Given the description of an element on the screen output the (x, y) to click on. 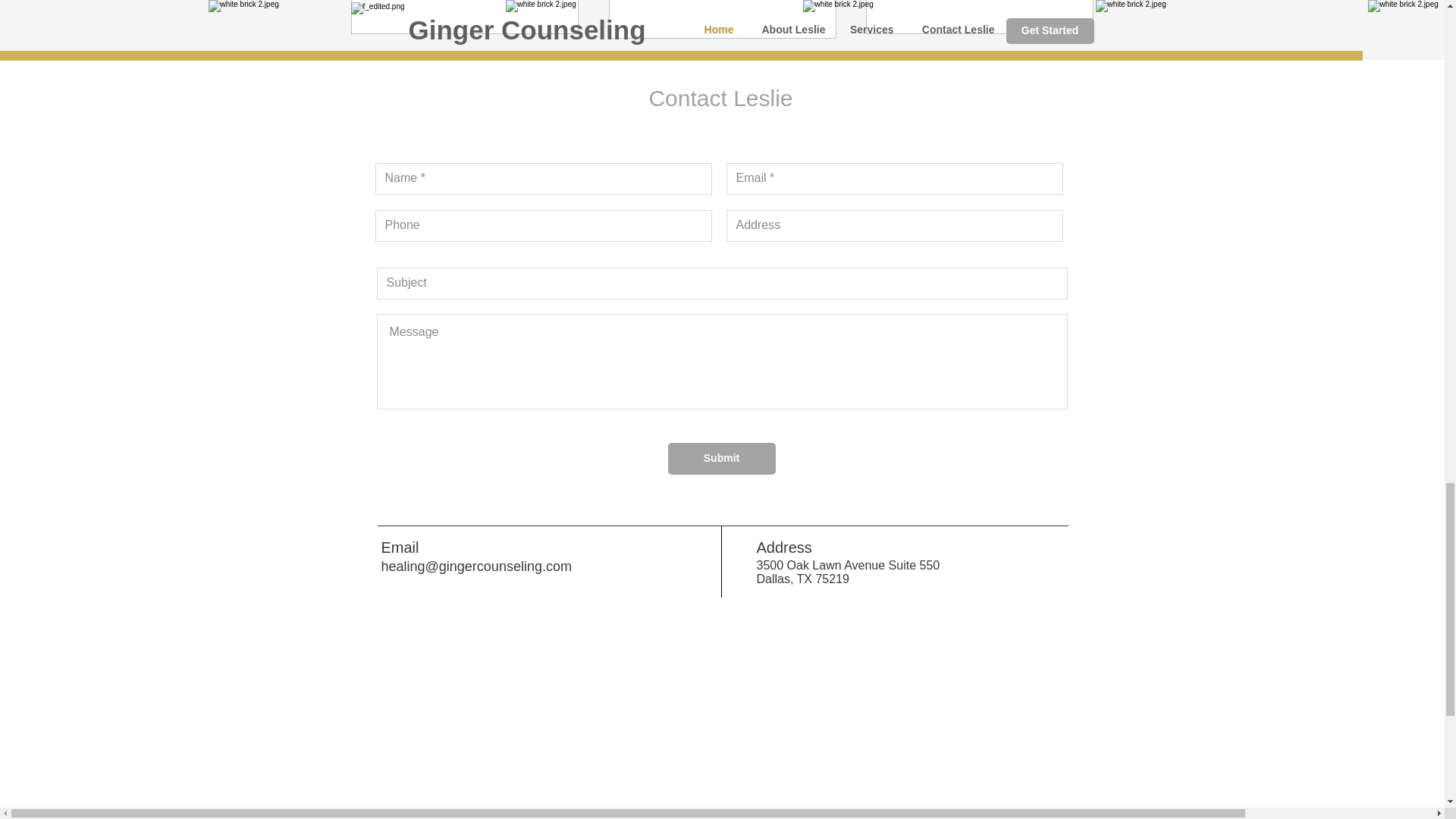
Submit (720, 459)
